Given the description of an element on the screen output the (x, y) to click on. 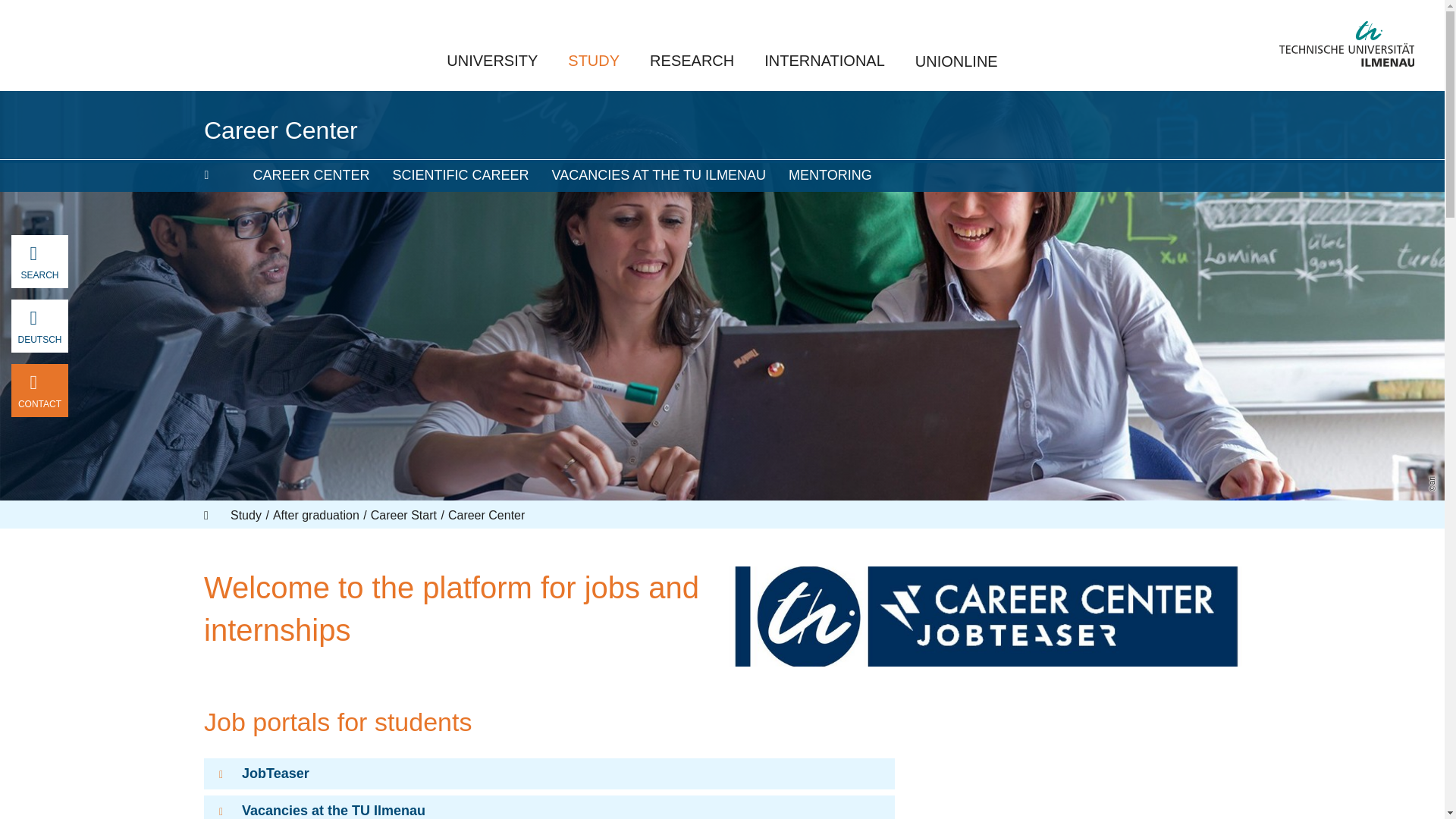
UNIVERSITY (491, 60)
Opens menu: University (491, 60)
